Given the description of an element on the screen output the (x, y) to click on. 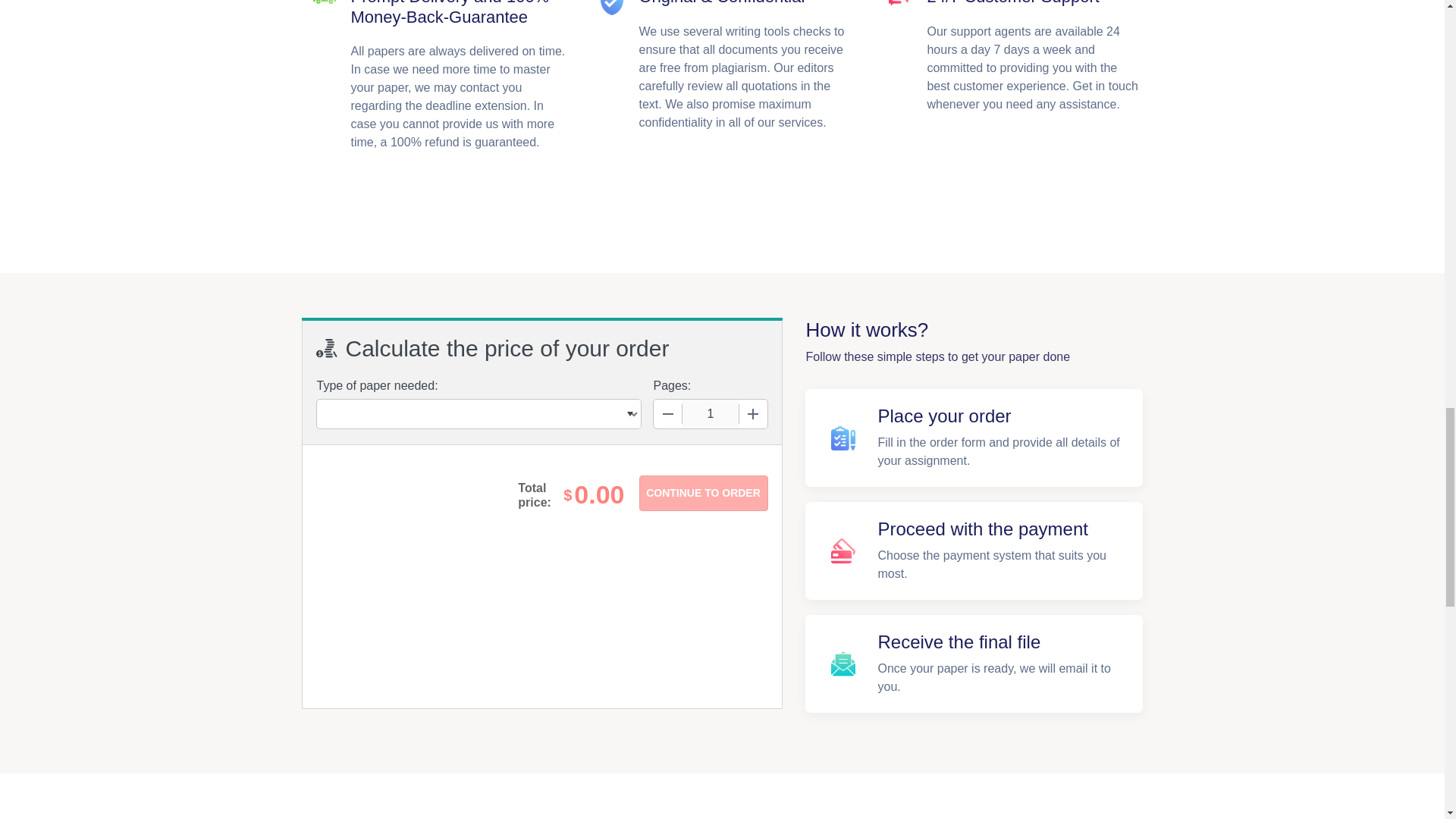
Decrease (667, 413)
1 (710, 413)
Continue to order (703, 493)
Continue to Order (703, 493)
Increase (752, 413)
Continue to order (703, 493)
